Given the description of an element on the screen output the (x, y) to click on. 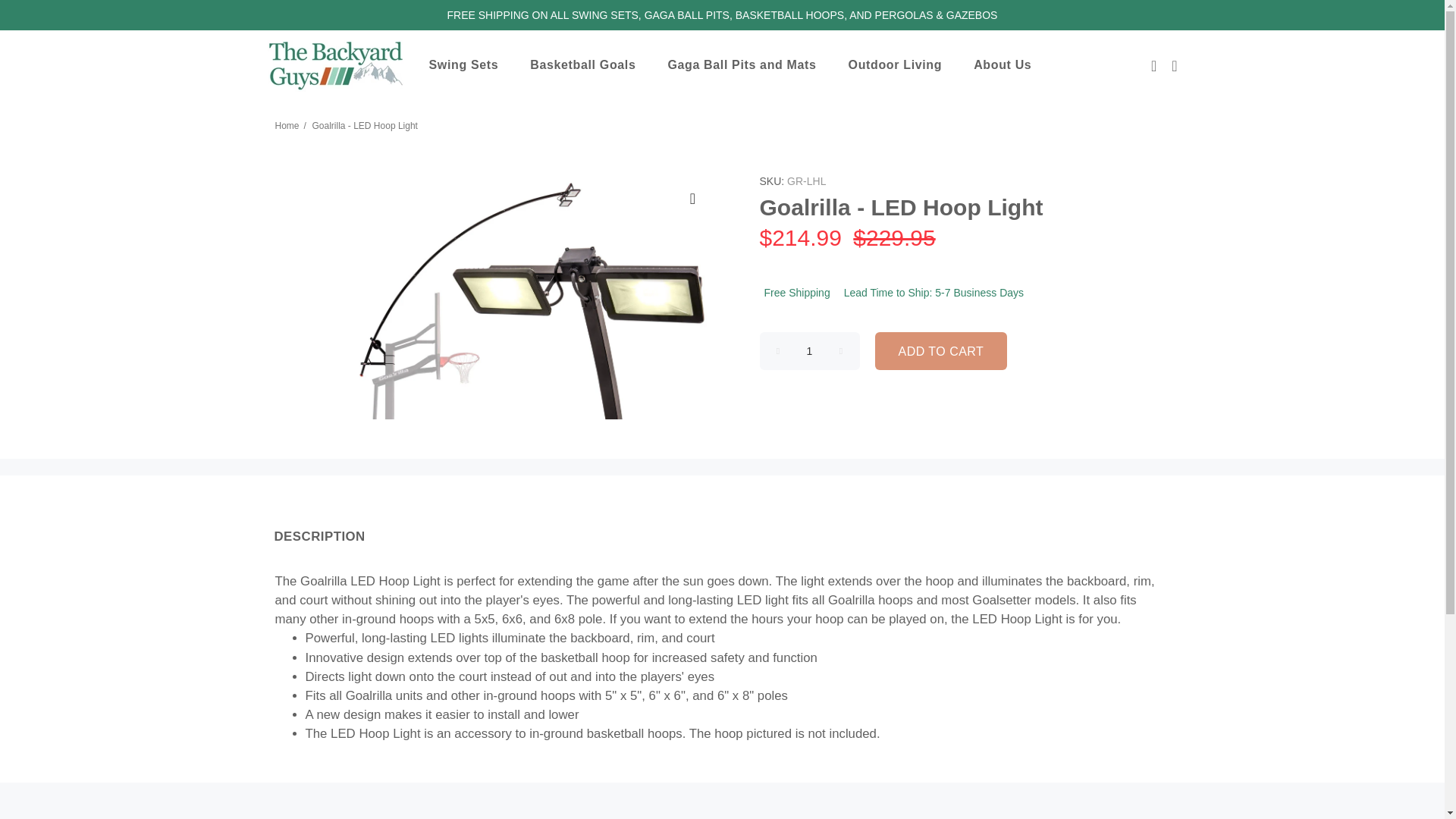
1 (810, 351)
Basketball Goals (589, 64)
Gaga Ball Pits and Mats (748, 64)
Home (286, 125)
Outdoor Living (902, 64)
Swing Sets (470, 64)
About Us (1008, 64)
